Given the description of an element on the screen output the (x, y) to click on. 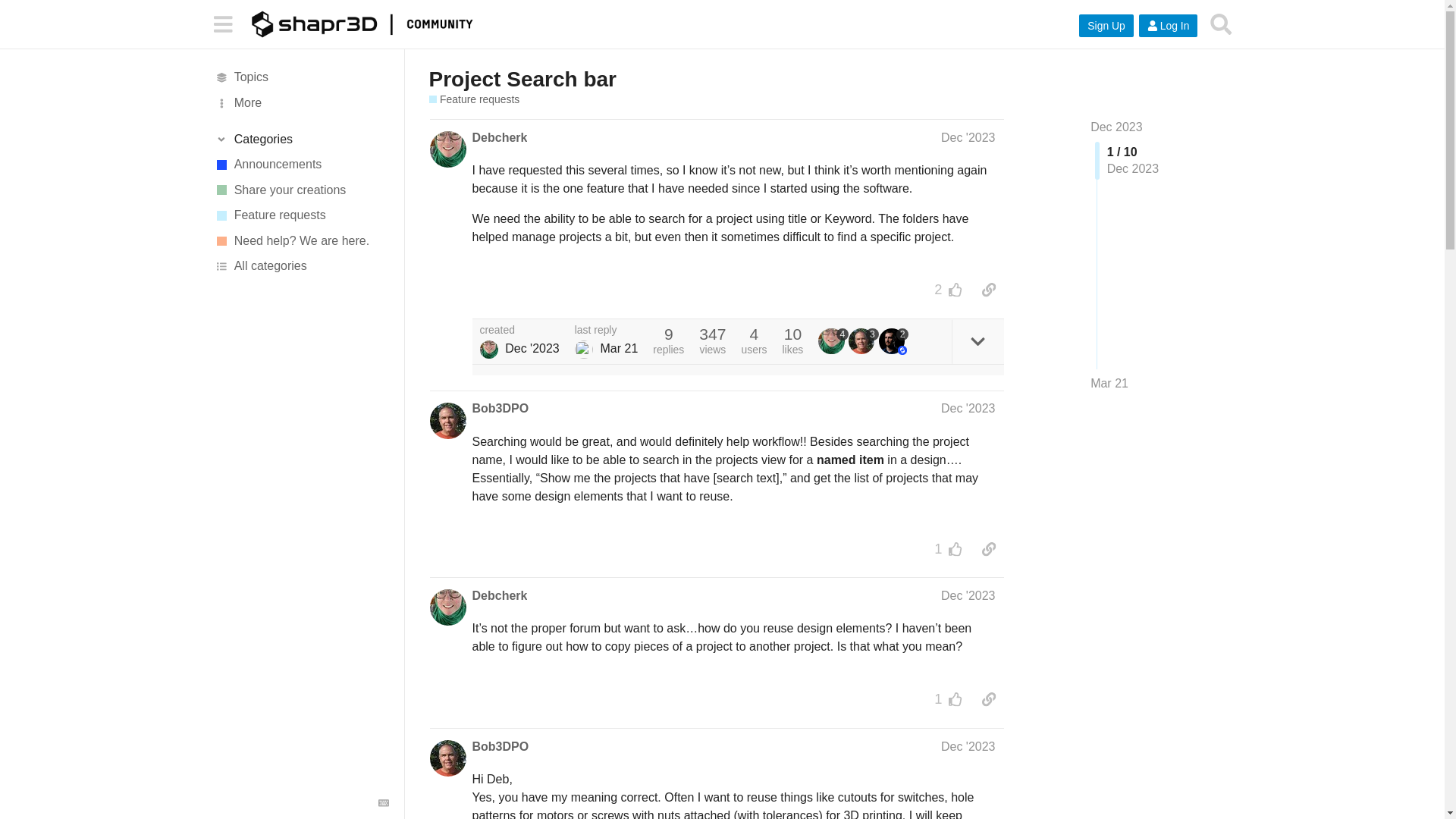
Debcherk (499, 137)
All categories (301, 266)
Dec '2023 (967, 408)
last reply (607, 330)
Categories (301, 139)
Share your creations (301, 190)
Post date (967, 137)
Sidebar (222, 23)
Toggle section (301, 139)
Feature requests (301, 216)
Please sign up or log in to like this post (955, 289)
Announcements (301, 164)
Please post your feature requests in this category. (301, 216)
All topics (301, 77)
4 (833, 340)
